Given the description of an element on the screen output the (x, y) to click on. 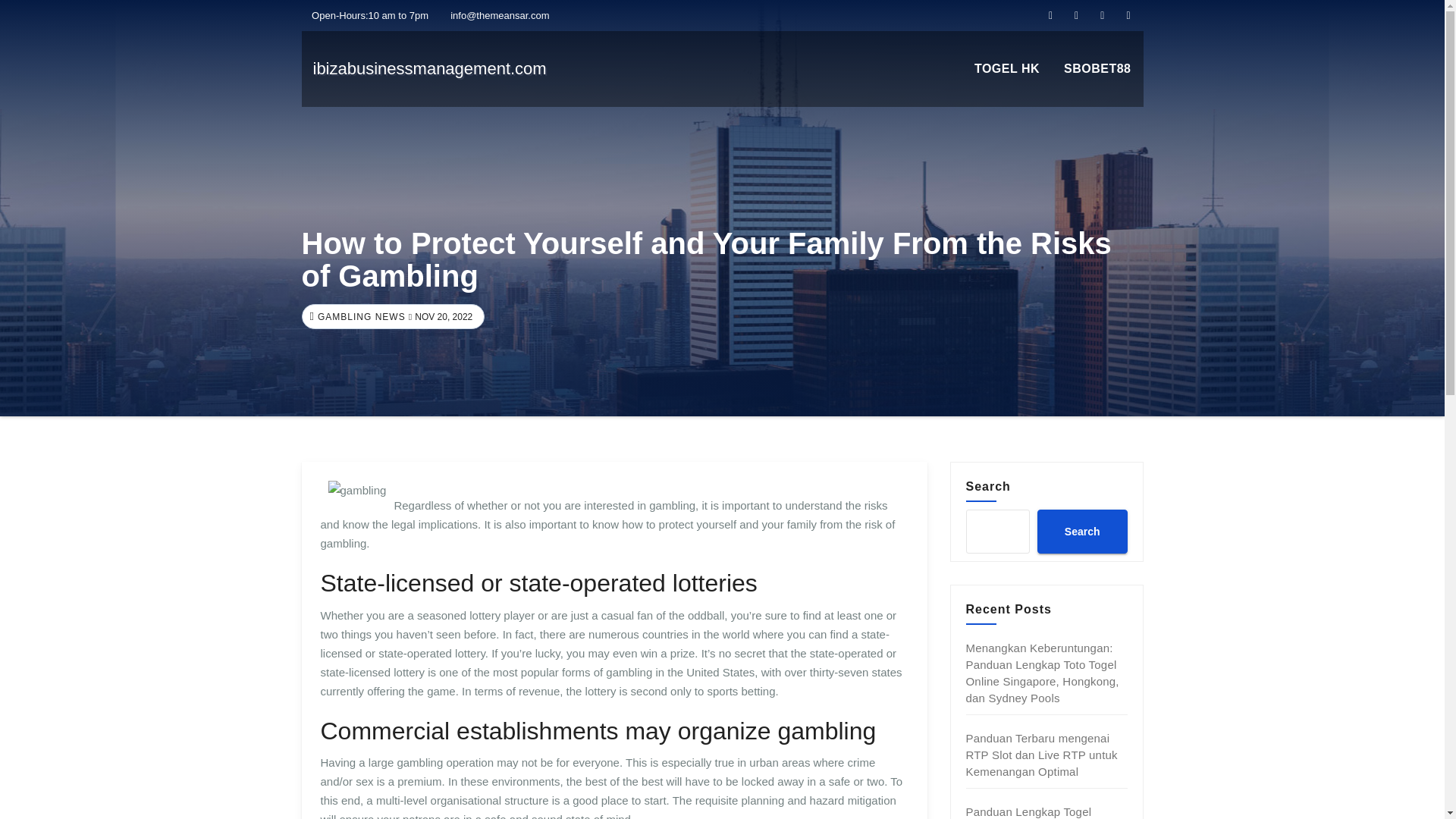
ibizabusinessmanagement.com (429, 68)
togel hk (1006, 69)
TOGEL HK (1006, 69)
Search (1081, 531)
GAMBLING NEWS (360, 317)
Open-Hours:10 am to 7pm (365, 15)
SBOBET88 (1096, 69)
